Given the description of an element on the screen output the (x, y) to click on. 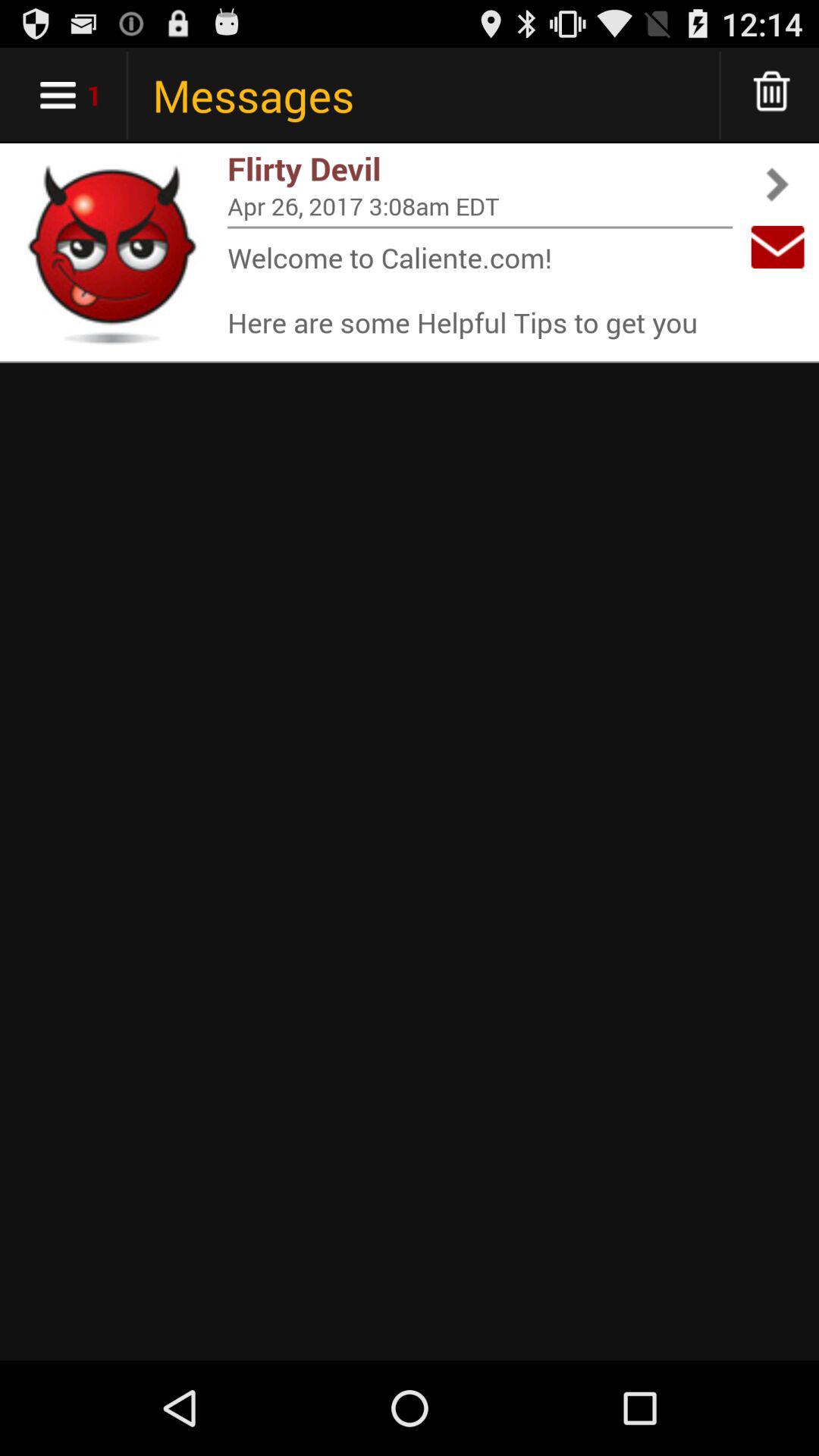
select the icon below the apr 26 2017 item (479, 227)
